Given the description of an element on the screen output the (x, y) to click on. 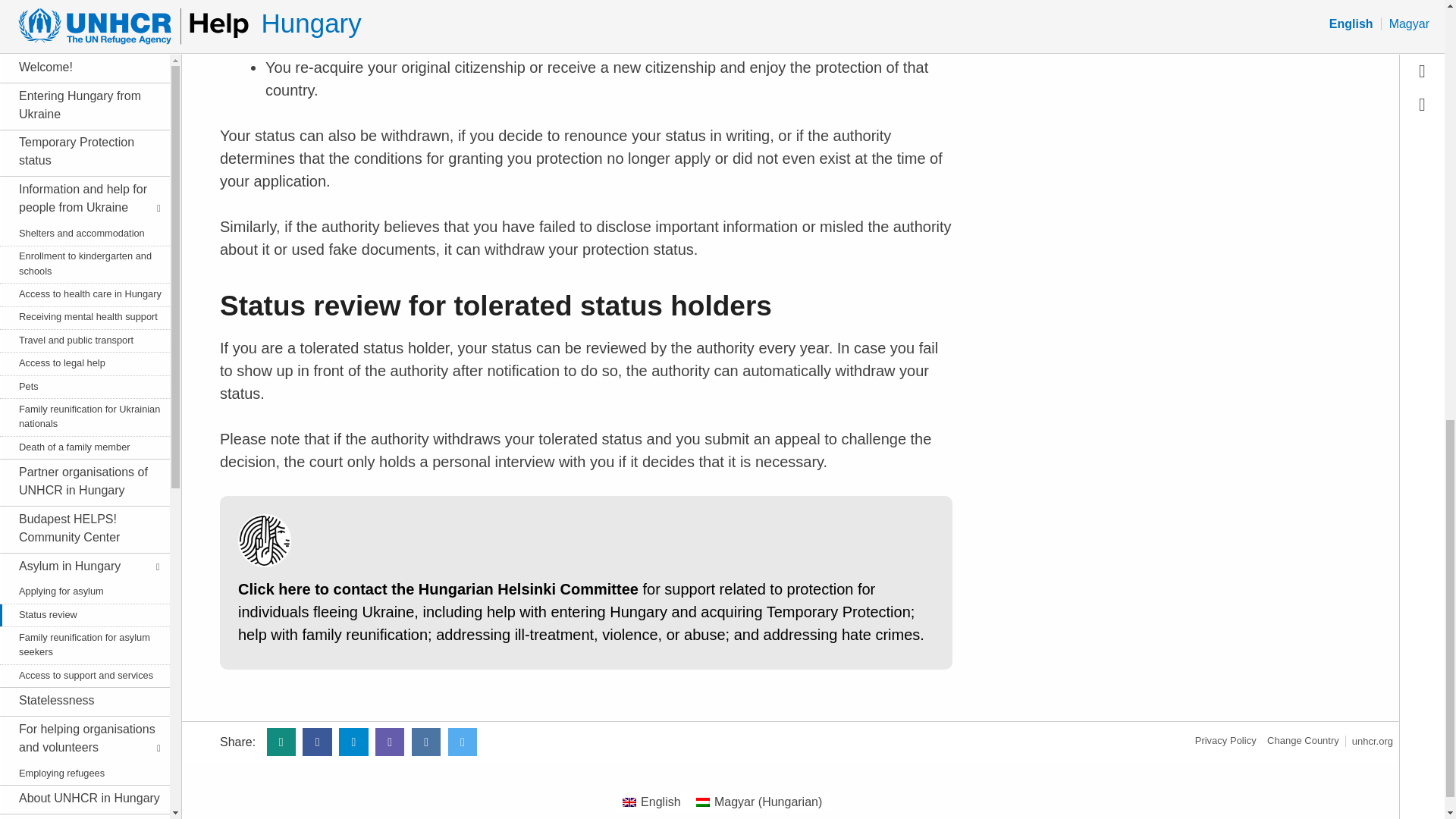
Reporting misconduct (81, 312)
help.unhcr.org (1302, 740)
UNHCR - the UN Refugee Agency (1372, 740)
Respond to online harm and reach for help (81, 121)
Recognise scams and phishing attempts (81, 11)
Your life online, far away from home (81, 158)
Identify reliable sources of information (81, 195)
Seek assistance safely online (81, 226)
Protect your devices, accounts, and data (81, 45)
Keep your children safe from online threats (81, 82)
